Given the description of an element on the screen output the (x, y) to click on. 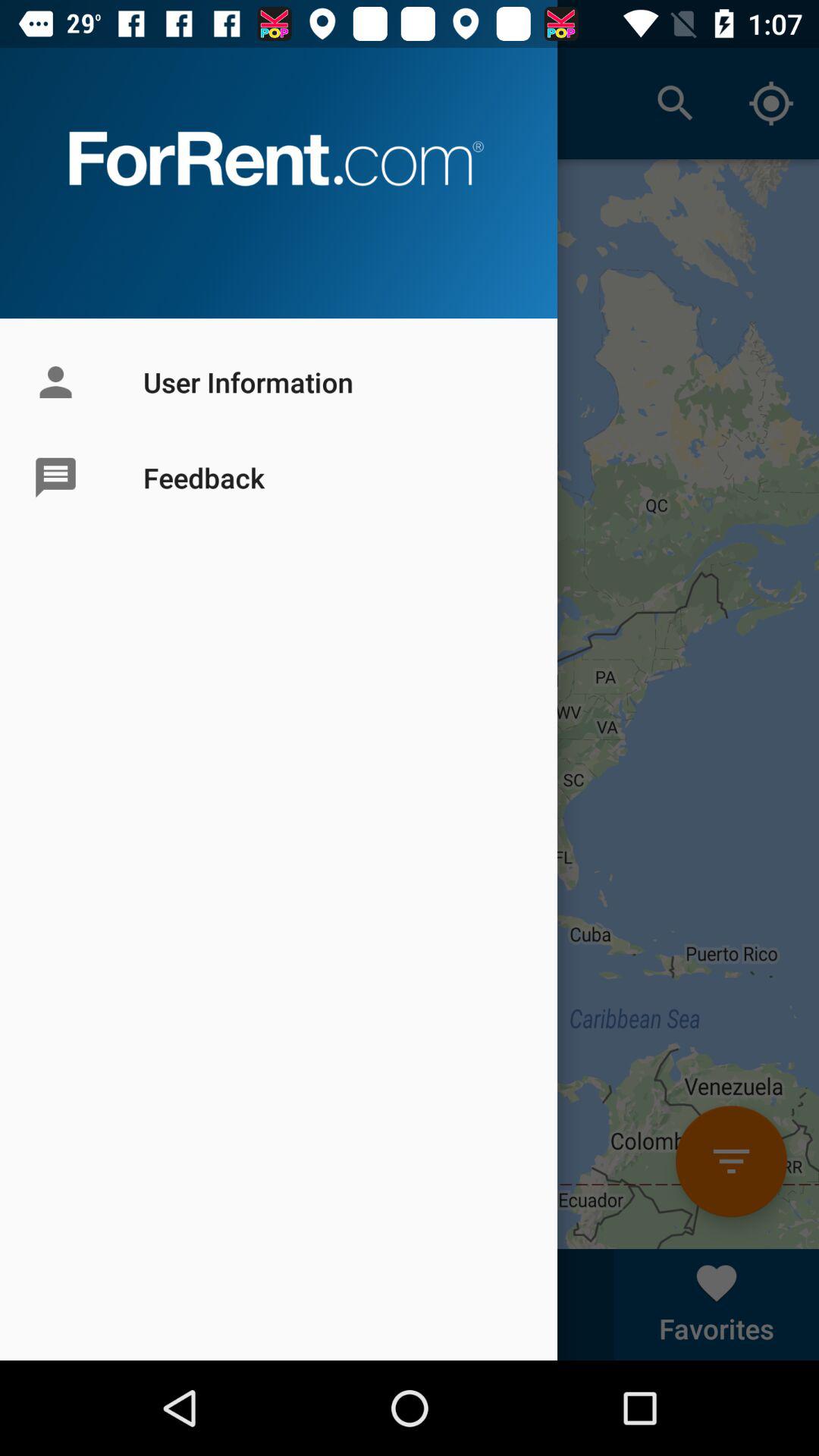
click on forrentcom (278, 158)
select  right corner text from bottom (716, 1304)
select the location beside the search icon (771, 103)
click on orange colour icon above favorites (731, 1161)
